Given the description of an element on the screen output the (x, y) to click on. 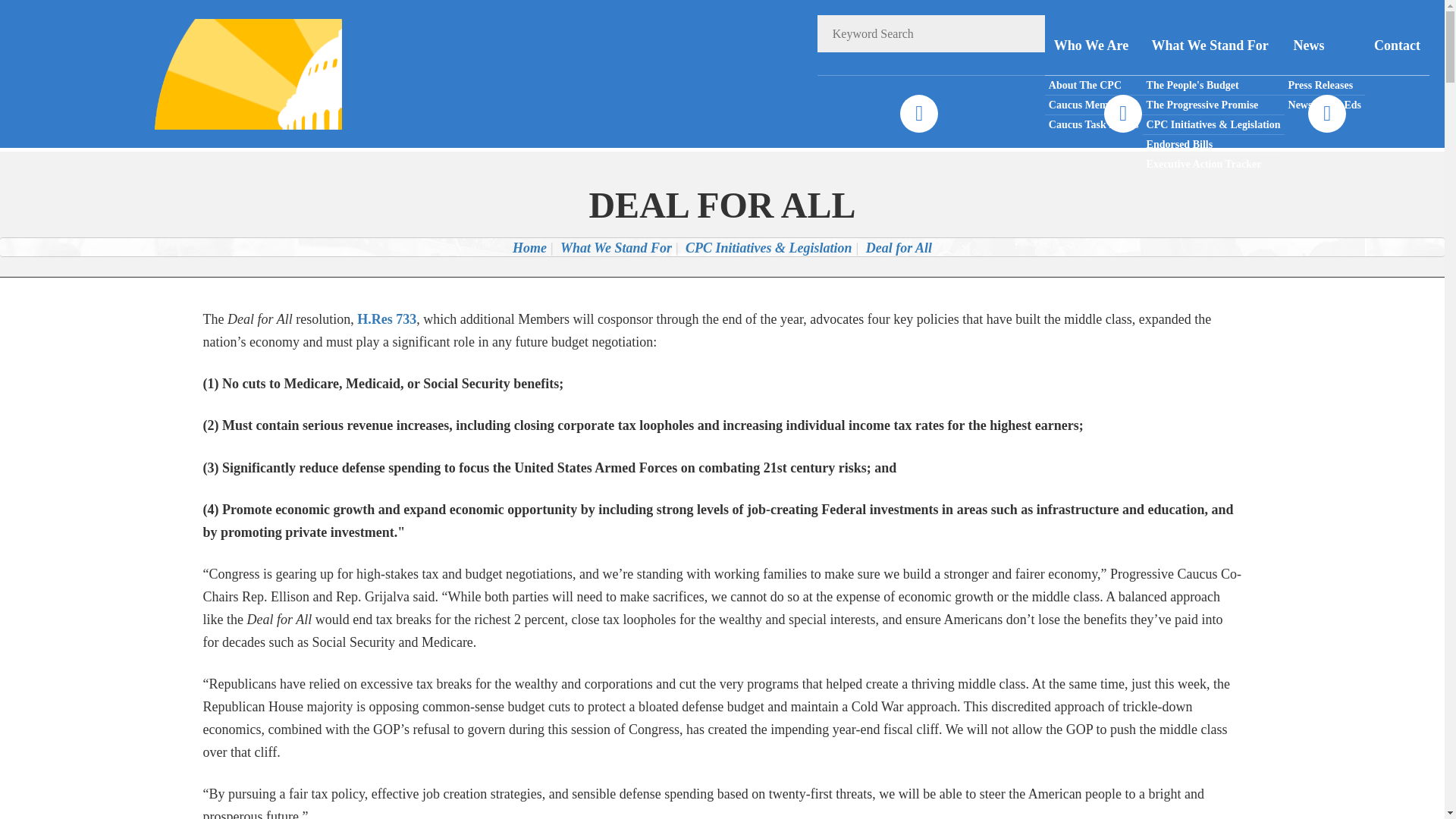
The Progressive Promise (1213, 105)
Caucus Members (1093, 105)
Facebook (918, 113)
CONGRESSIONAL PROGRESSIVE CAUCUS (228, 73)
About The CPC (1093, 85)
Press Releases (1324, 85)
Go (1026, 33)
DEAL FOR ALL (722, 205)
Endorsed Bills (1213, 144)
News (1324, 45)
Home (529, 247)
Who We Are (1093, 45)
Deal for All (898, 247)
What We Stand For (1213, 45)
The People's Budget (1213, 85)
